Given the description of an element on the screen output the (x, y) to click on. 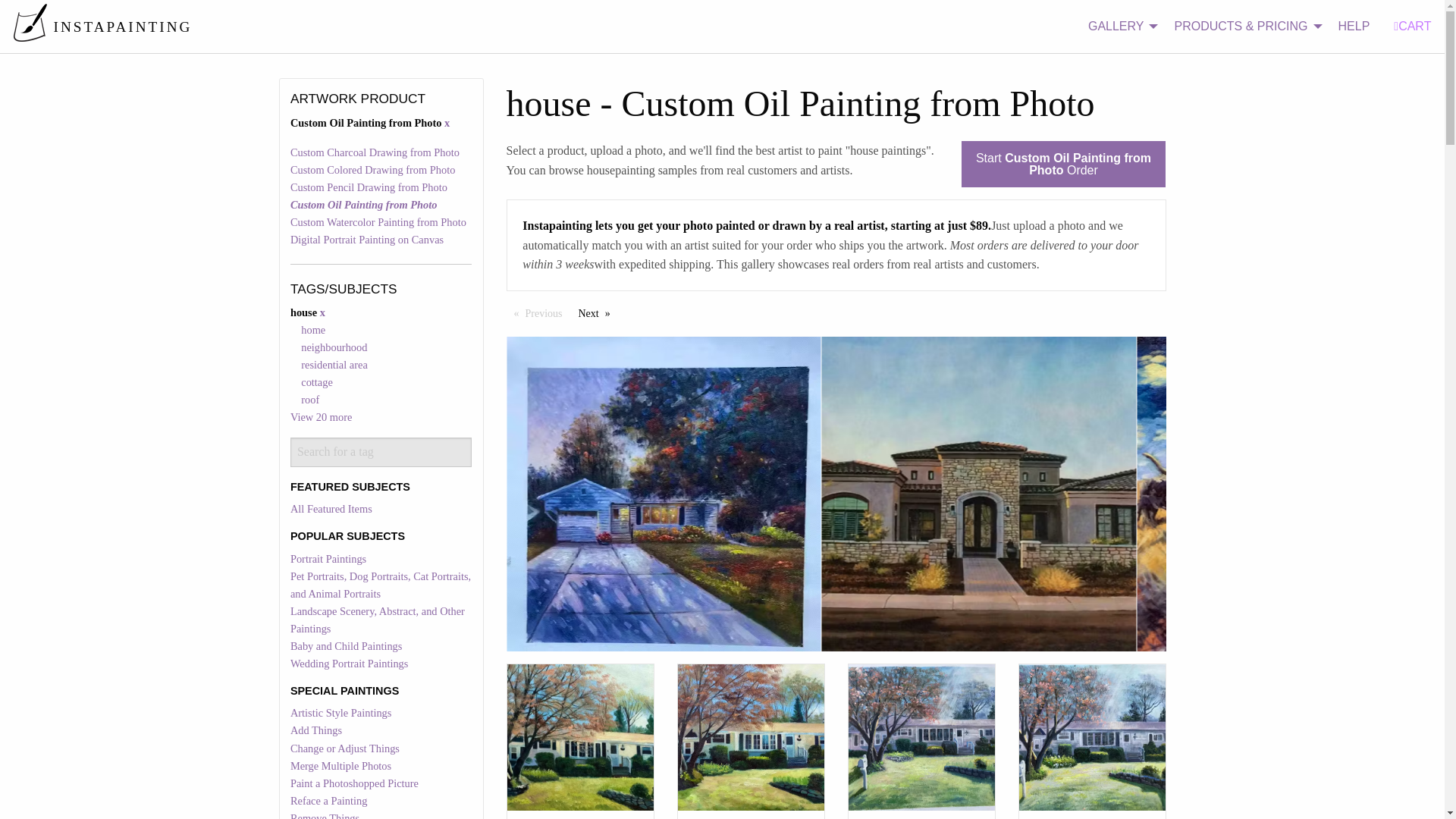
INSTAPAINTING (102, 26)
GALLERY (1118, 26)
